Given the description of an element on the screen output the (x, y) to click on. 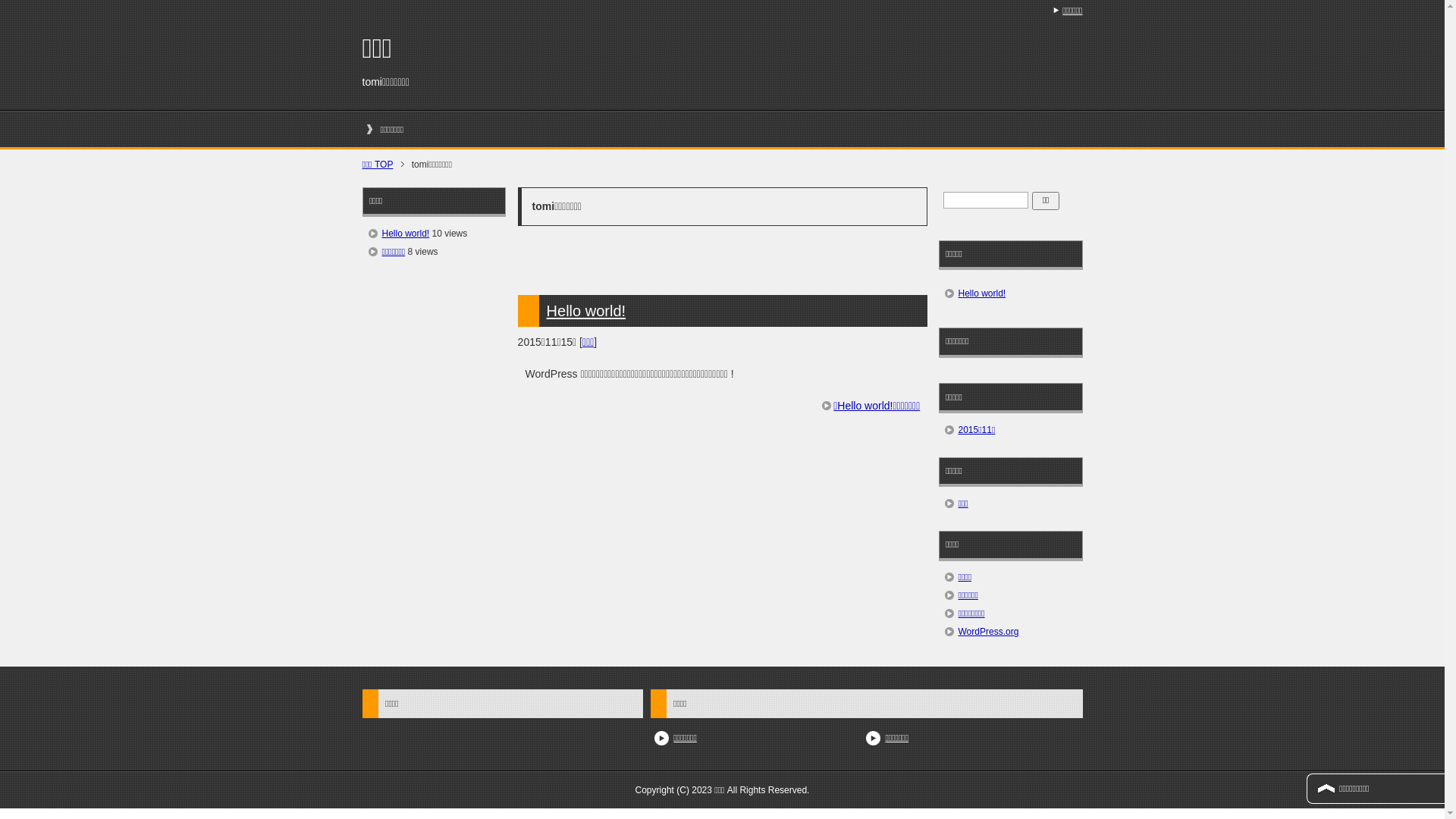
Hello world! Element type: text (585, 310)
Hello world! Element type: text (405, 233)
Hello world! Element type: text (1010, 293)
WordPress.org Element type: text (988, 631)
